Given the description of an element on the screen output the (x, y) to click on. 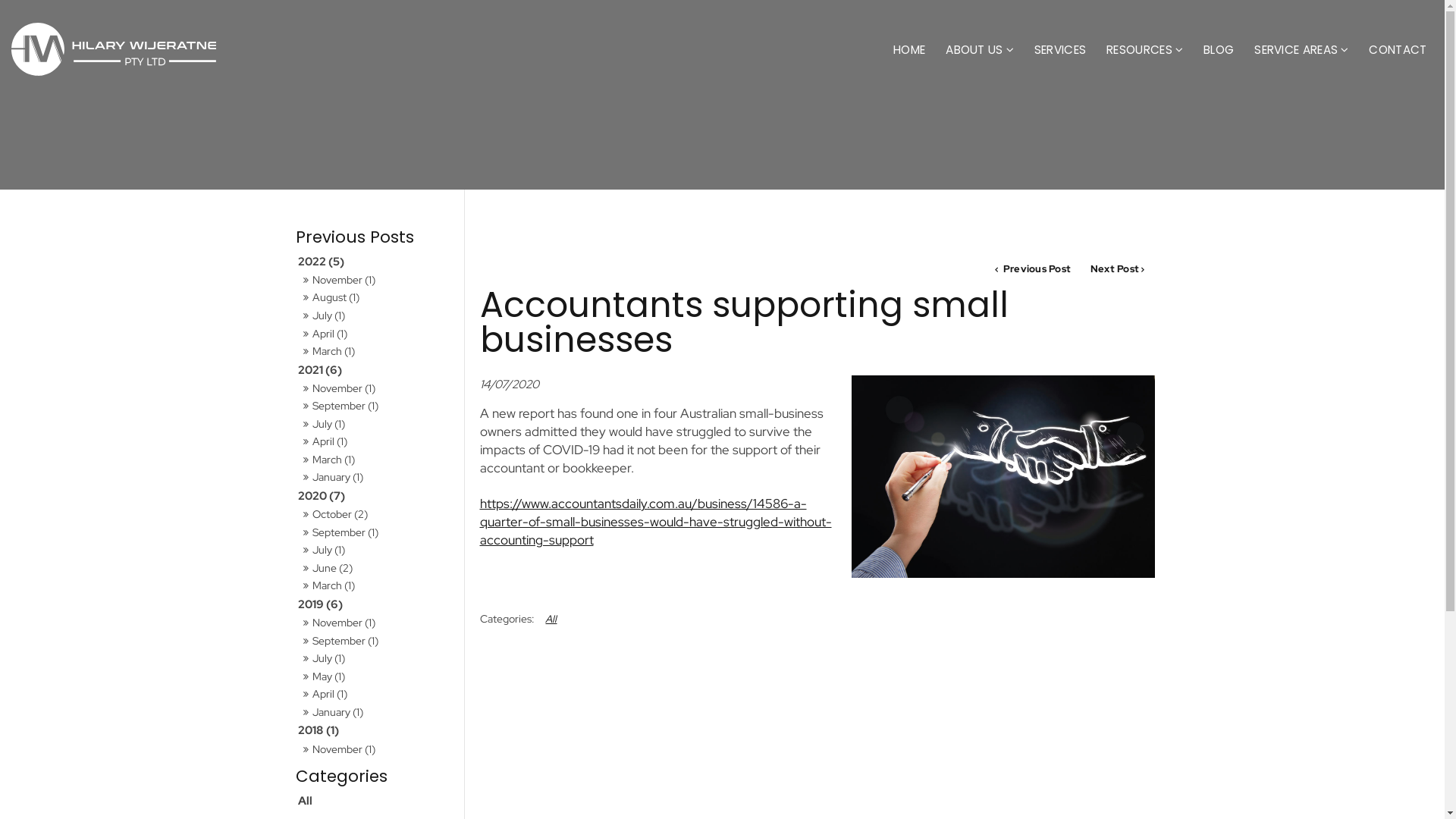
SERVICE AREAS Element type: text (1301, 49)
July (1) Element type: text (376, 315)
2020 (7) Element type: text (376, 495)
2022 (5) Element type: text (376, 261)
HOME Element type: text (909, 49)
September (1) Element type: text (376, 640)
All Element type: text (376, 800)
March (1) Element type: text (376, 351)
January (1) Element type: text (376, 477)
May (1) Element type: text (376, 676)
All Element type: text (551, 619)
November (1) Element type: text (376, 622)
October (2) Element type: text (376, 514)
SERVICES Element type: text (1059, 49)
April (1) Element type: text (376, 333)
June (2) Element type: text (376, 568)
2021 (6) Element type: text (376, 369)
August (1) Element type: text (376, 297)
Next Post Element type: text (1117, 269)
March (1) Element type: text (376, 459)
RESOURCES Element type: text (1144, 49)
January (1) Element type: text (376, 712)
ABOUT US Element type: text (979, 49)
Previous Post Element type: text (1032, 269)
September (1) Element type: text (376, 405)
July (1) Element type: text (376, 549)
July (1) Element type: text (376, 658)
July (1) Element type: text (376, 424)
2019 (6) Element type: text (376, 604)
September (1) Element type: text (376, 532)
April (1) Element type: text (376, 693)
November (1) Element type: text (376, 388)
November (1) Element type: text (376, 279)
November (1) Element type: text (376, 749)
CONTACT Element type: text (1397, 49)
2018 (1) Element type: text (376, 730)
March (1) Element type: text (376, 585)
BLOG Element type: text (1218, 49)
April (1) Element type: text (376, 441)
